Given the description of an element on the screen output the (x, y) to click on. 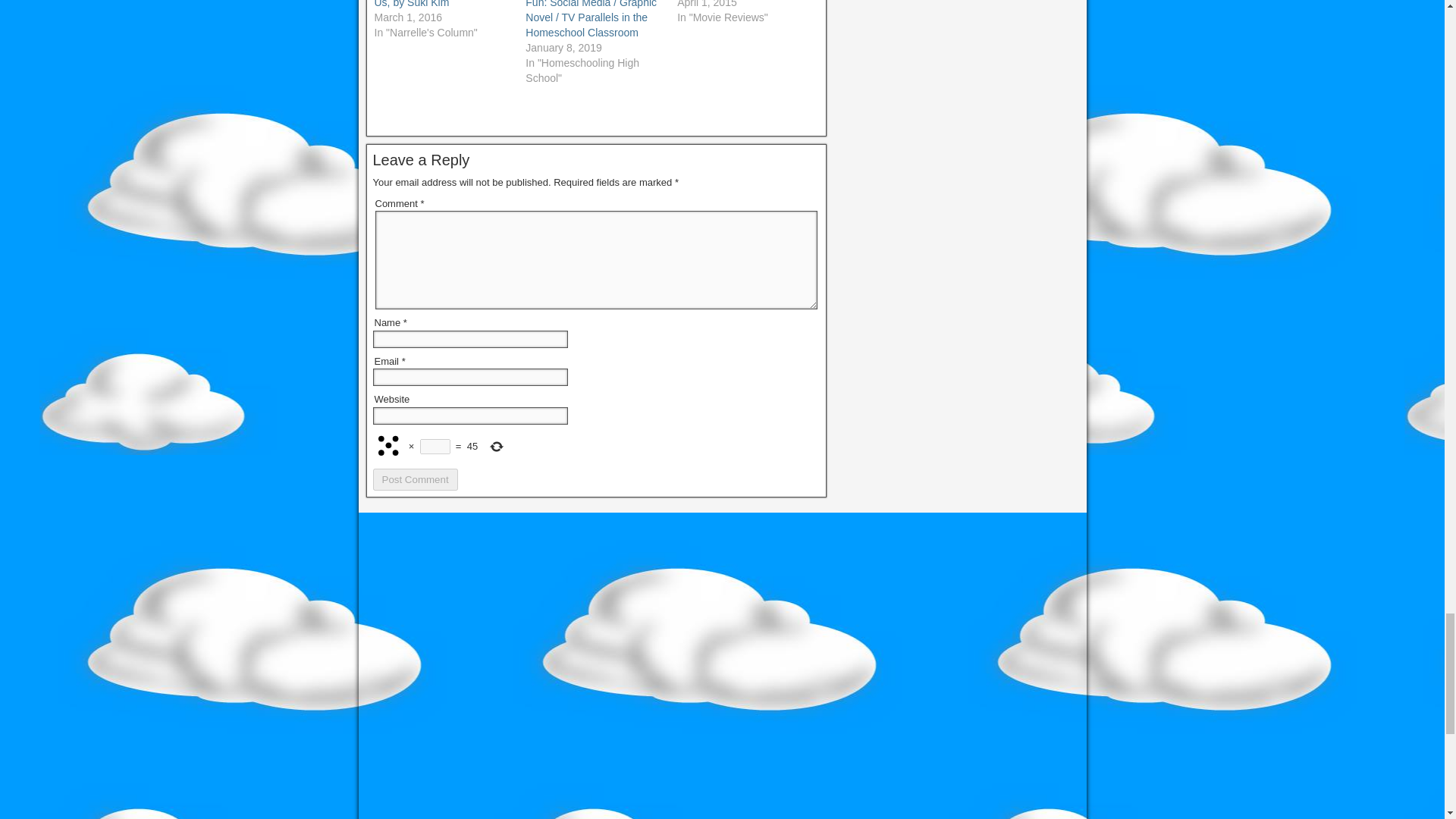
Without You, There Is No Us, by Suki Kim (433, 4)
Post Comment (415, 479)
Without You, There Is No Us, by Suki Kim (433, 4)
